Given the description of an element on the screen output the (x, y) to click on. 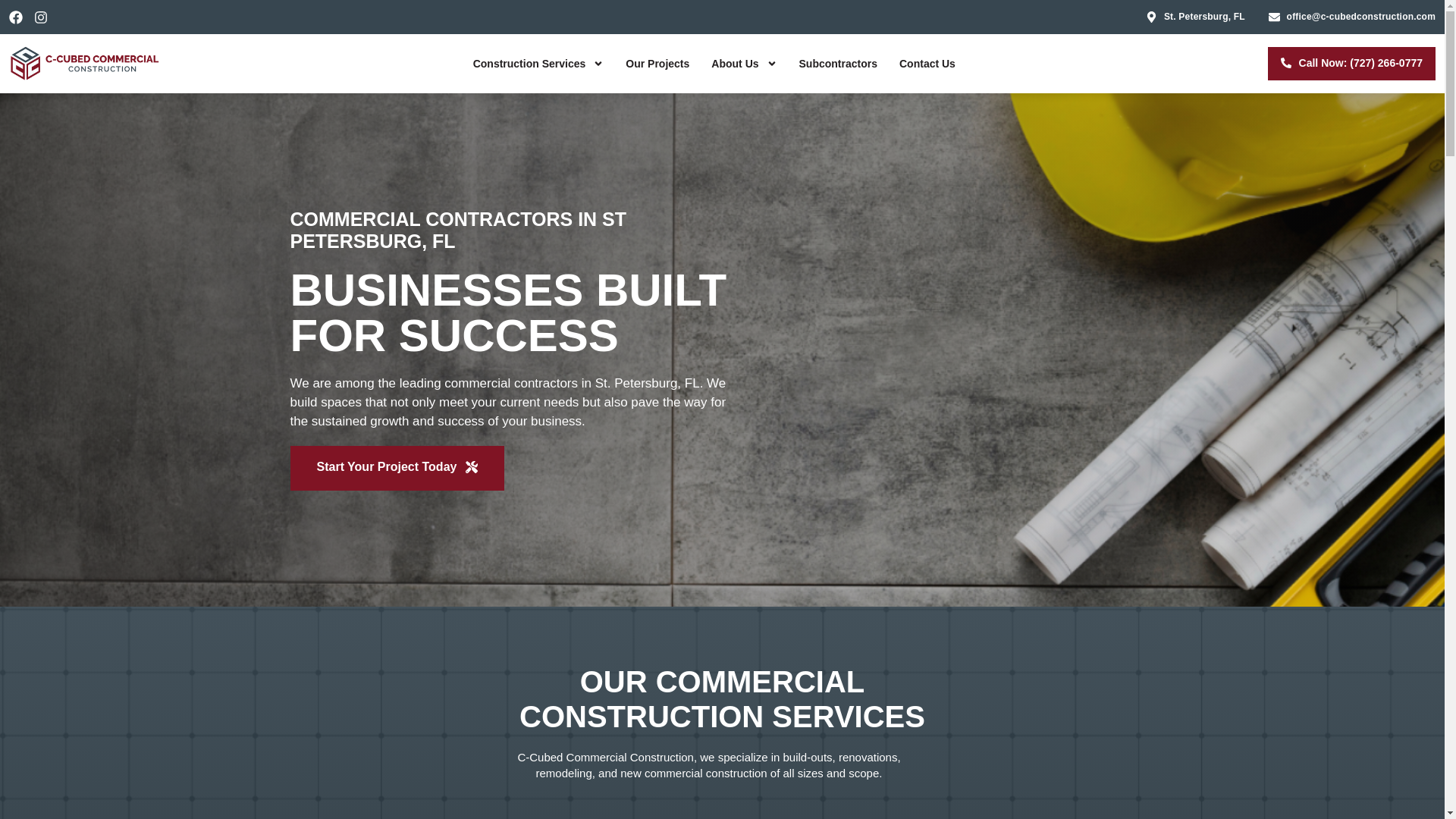
About Us (743, 63)
Construction Services (538, 63)
Subcontractors (838, 63)
Our Projects (657, 63)
Contact Us (927, 63)
